Given the description of an element on the screen output the (x, y) to click on. 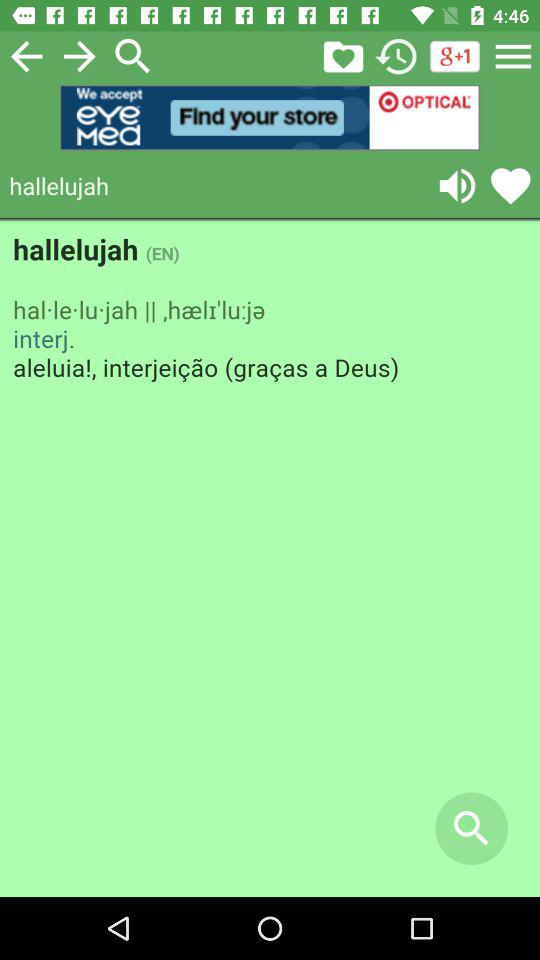
search option (133, 56)
